Given the description of an element on the screen output the (x, y) to click on. 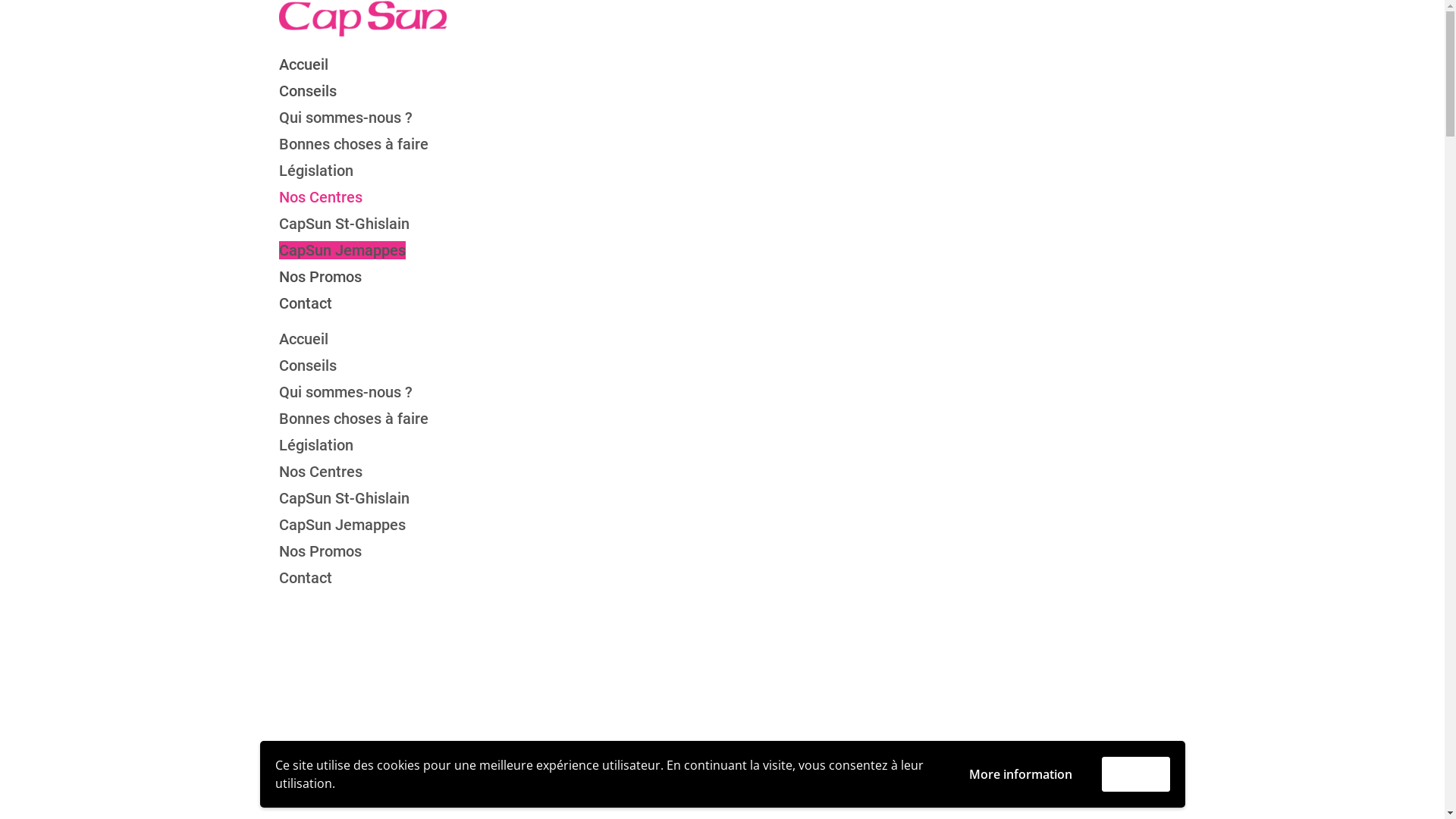
Nos Promos Element type: text (320, 276)
Accept Element type: text (1135, 774)
Nos Centres Element type: text (320, 197)
Conseils Element type: text (307, 90)
Nos Promos Element type: text (320, 551)
CapSun Jemappes Element type: text (342, 250)
More information Element type: text (1019, 773)
CapSun Jemappes Element type: text (342, 524)
Qui sommes-nous ? Element type: text (345, 117)
Conseils Element type: text (307, 365)
Qui sommes-nous ? Element type: text (345, 391)
Contact Element type: text (305, 303)
CapSun St-Ghislain Element type: text (344, 223)
CapSun St-Ghislain Element type: text (344, 498)
Accueil Element type: text (303, 338)
Accueil Element type: text (303, 64)
Nos Centres Element type: text (320, 471)
Contact Element type: text (305, 577)
